Given the description of an element on the screen output the (x, y) to click on. 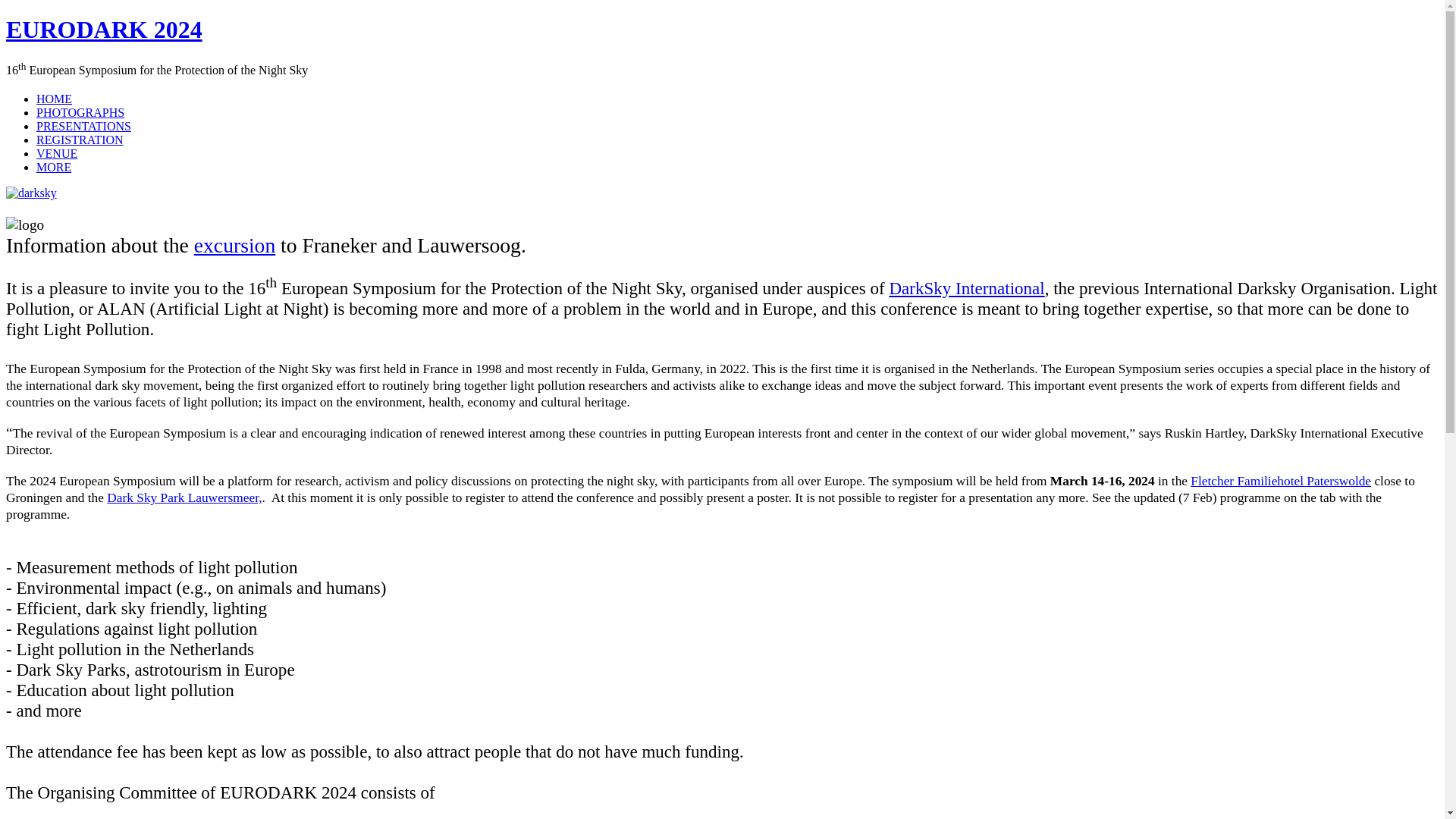
MORE (53, 166)
PHOTOGRAPHS (79, 112)
HOME (53, 98)
VENUE (56, 153)
darksky (30, 192)
Excursion (234, 245)
PRESENTATIONS (83, 125)
DarkSky International (965, 288)
EURODARK 2024 (103, 29)
logo (24, 225)
DarkSky International (965, 288)
Dark Sky Park Lauwersmeer, (184, 497)
REGISTRATION (79, 139)
Fletcher Familiehotel Paterswolde (1281, 481)
excursion (234, 245)
